Given the description of an element on the screen output the (x, y) to click on. 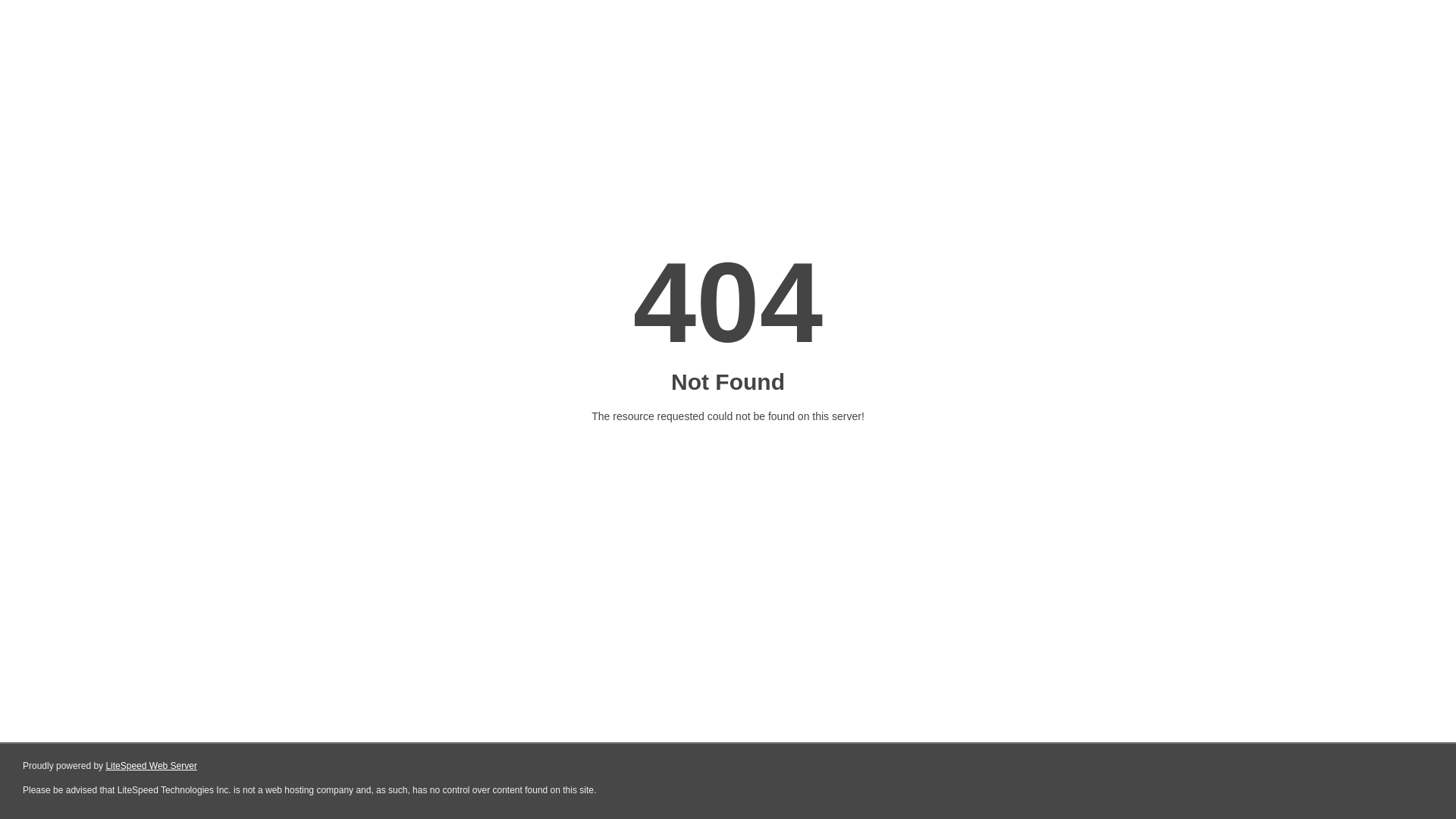
LiteSpeed Web Server Element type: text (151, 765)
